Given the description of an element on the screen output the (x, y) to click on. 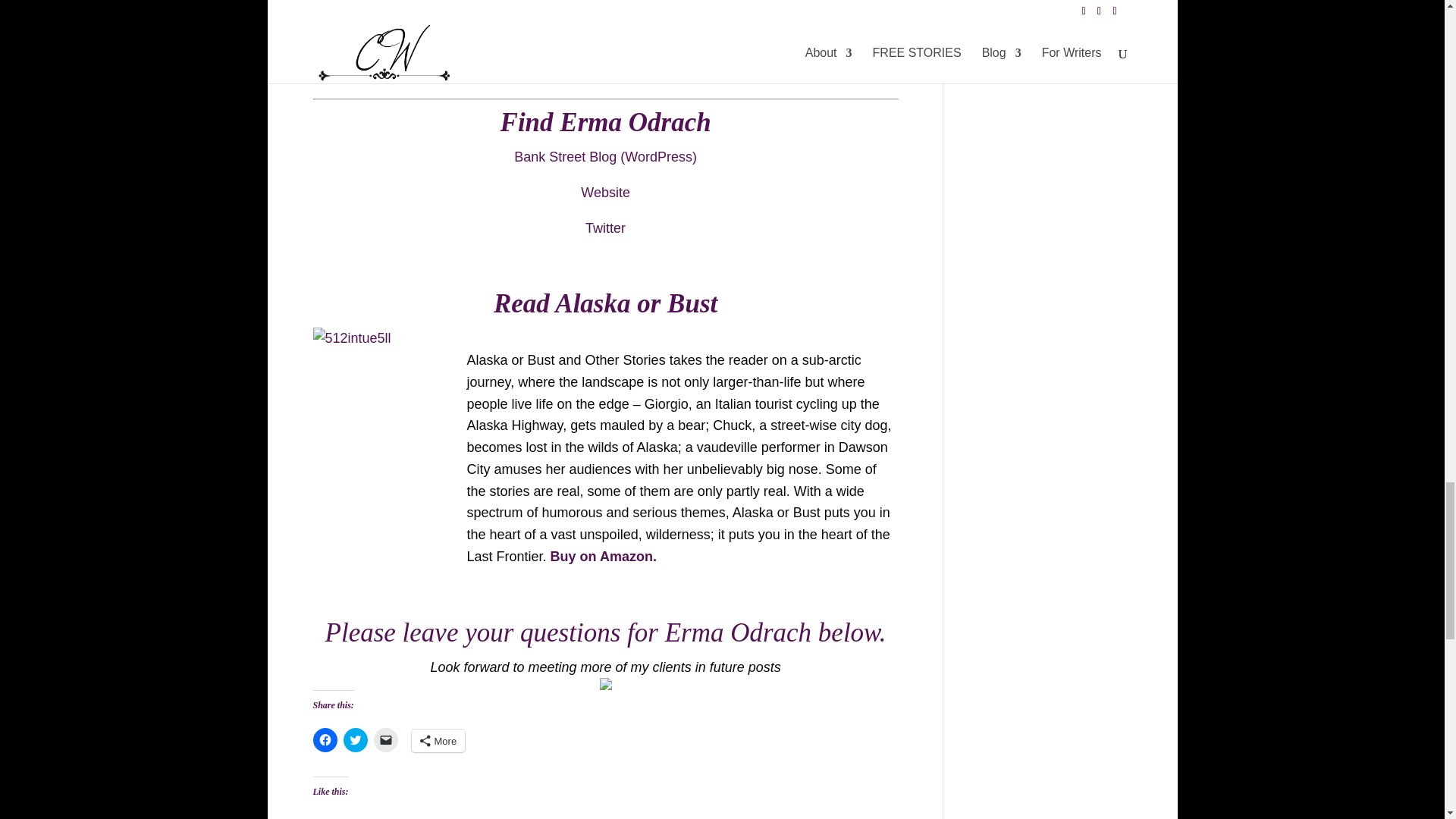
Click to share on Facebook (324, 740)
Click to share on Twitter (354, 740)
Click to email a link to a friend (384, 740)
More (437, 740)
Website (605, 192)
Buy on Amazon. (603, 556)
Twitter (605, 227)
